Given the description of an element on the screen output the (x, y) to click on. 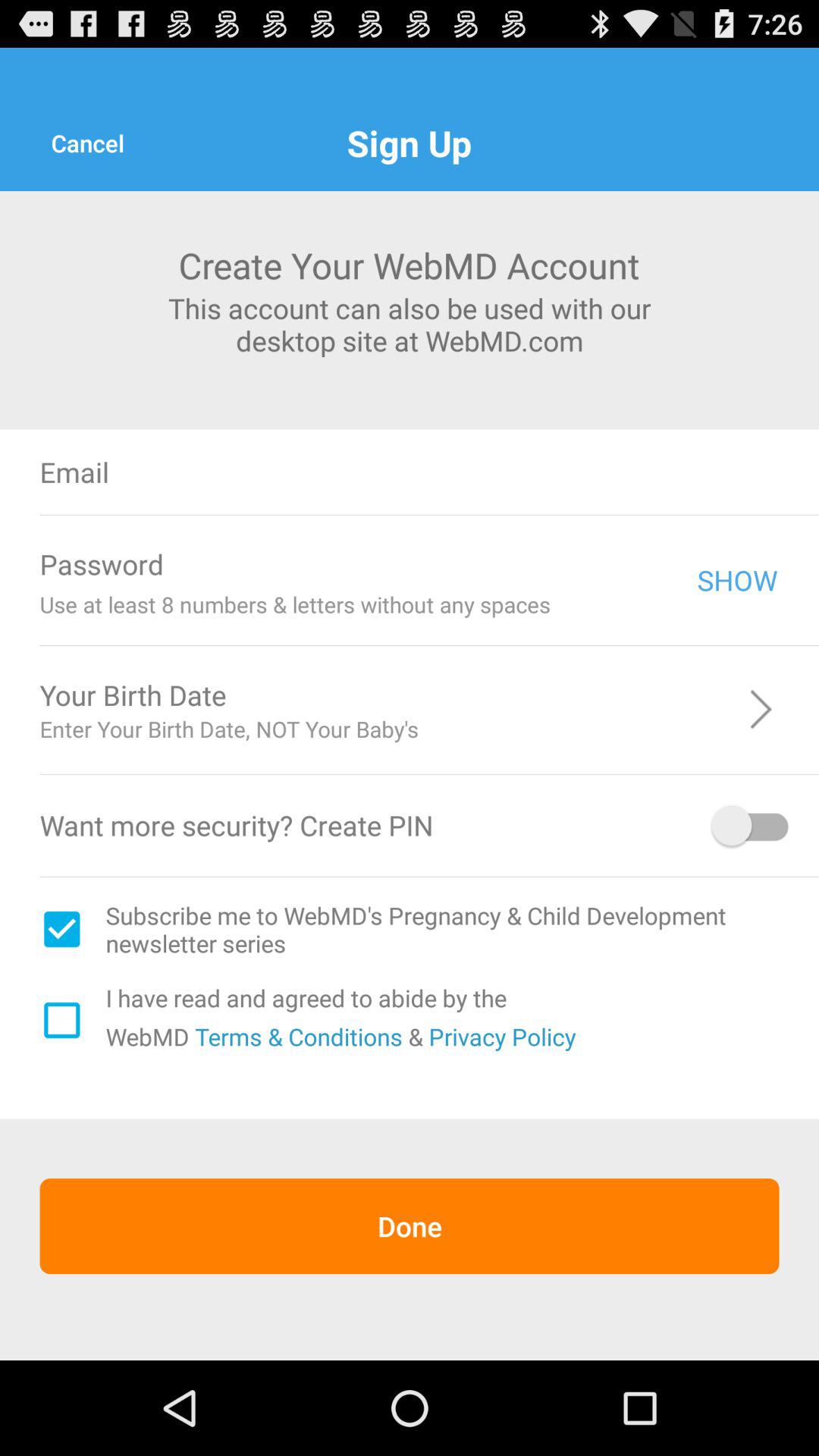
jump to the show icon (737, 580)
